Given the description of an element on the screen output the (x, y) to click on. 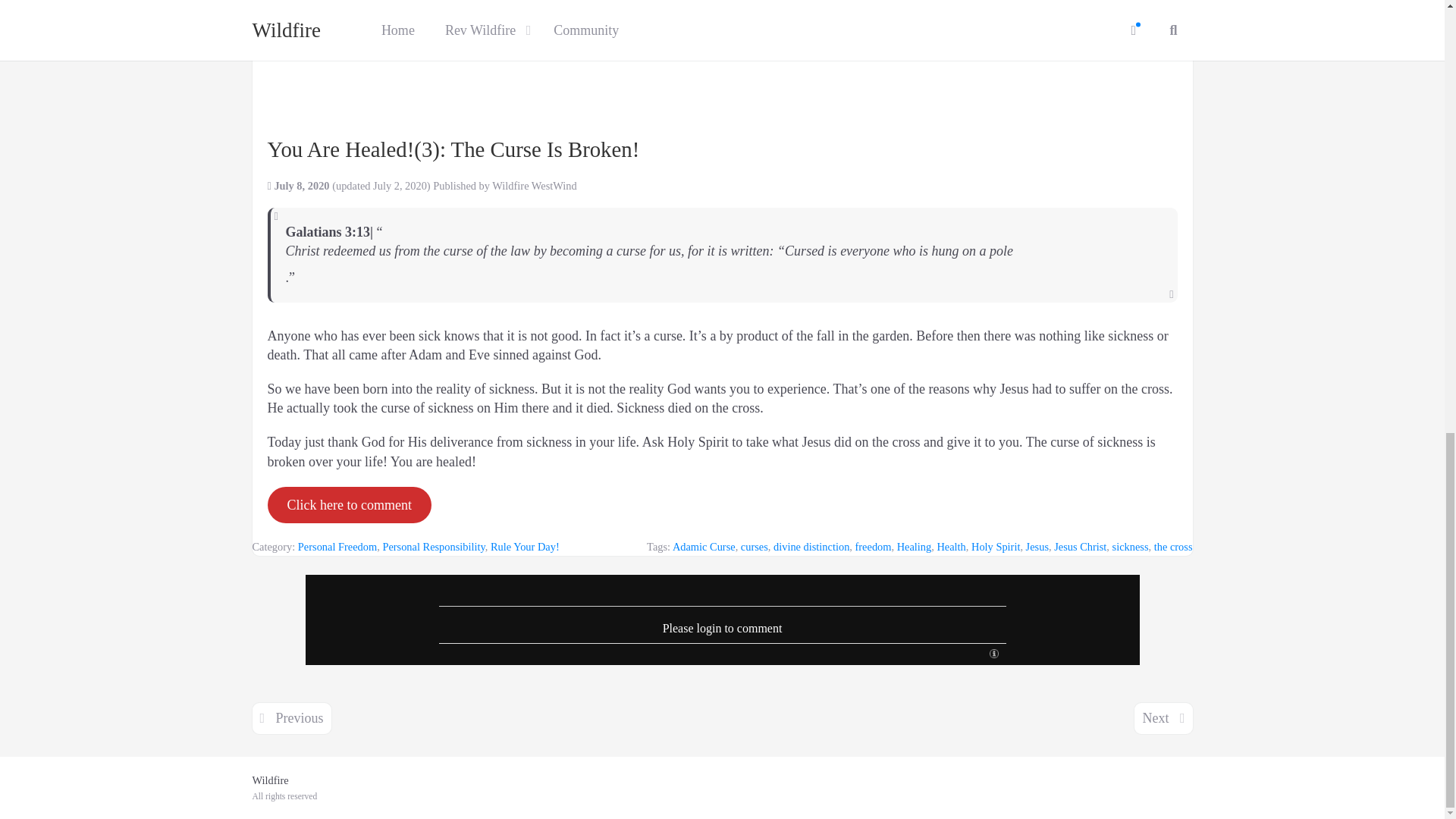
the cross (1173, 546)
Adamic Curse (703, 546)
Jesus Christ (1080, 546)
Health (950, 546)
Holy Spirit (995, 546)
divine distinction (810, 546)
sickness (1130, 546)
Jesus (1037, 546)
Previous (291, 717)
Personal Responsibility (432, 546)
